Given the description of an element on the screen output the (x, y) to click on. 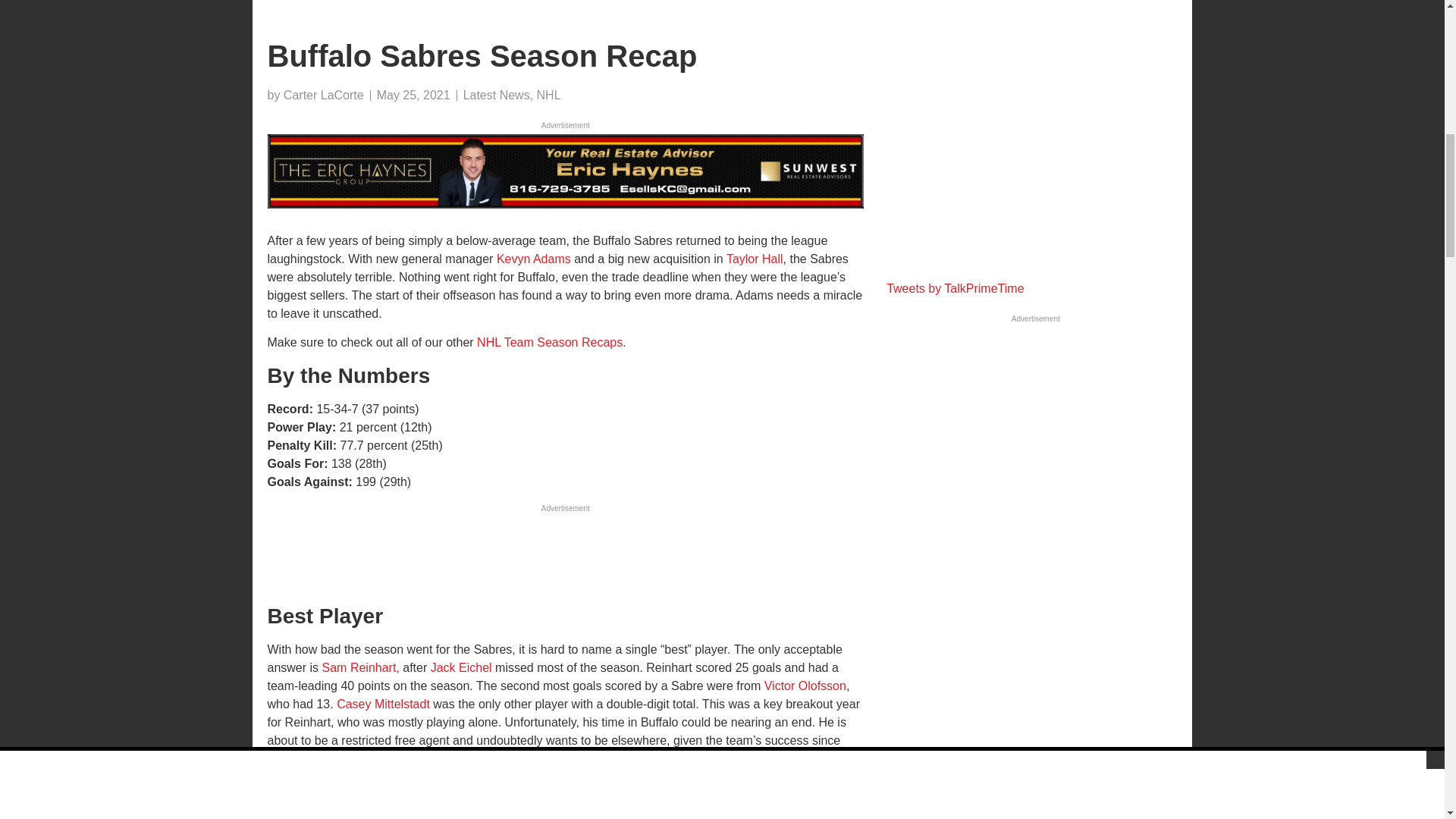
3rd party ad content (564, 550)
3rd party ad content (564, 12)
3rd party ad content (1035, 132)
